Given the description of an element on the screen output the (x, y) to click on. 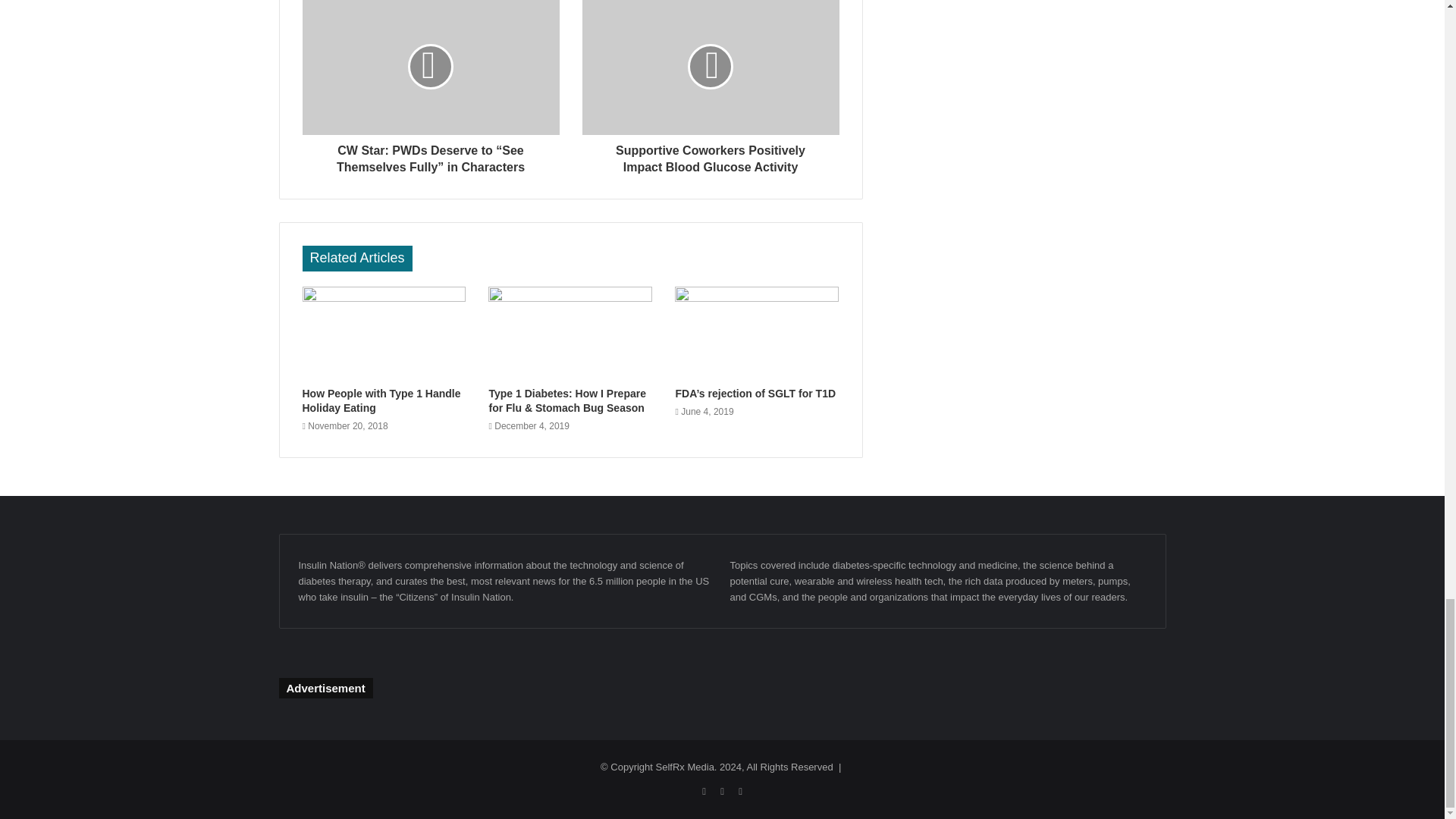
How People with Type 1 Handle Holiday Eating (380, 400)
How People with Type 1 Handle Holiday Eating (383, 332)
